Given the description of an element on the screen output the (x, y) to click on. 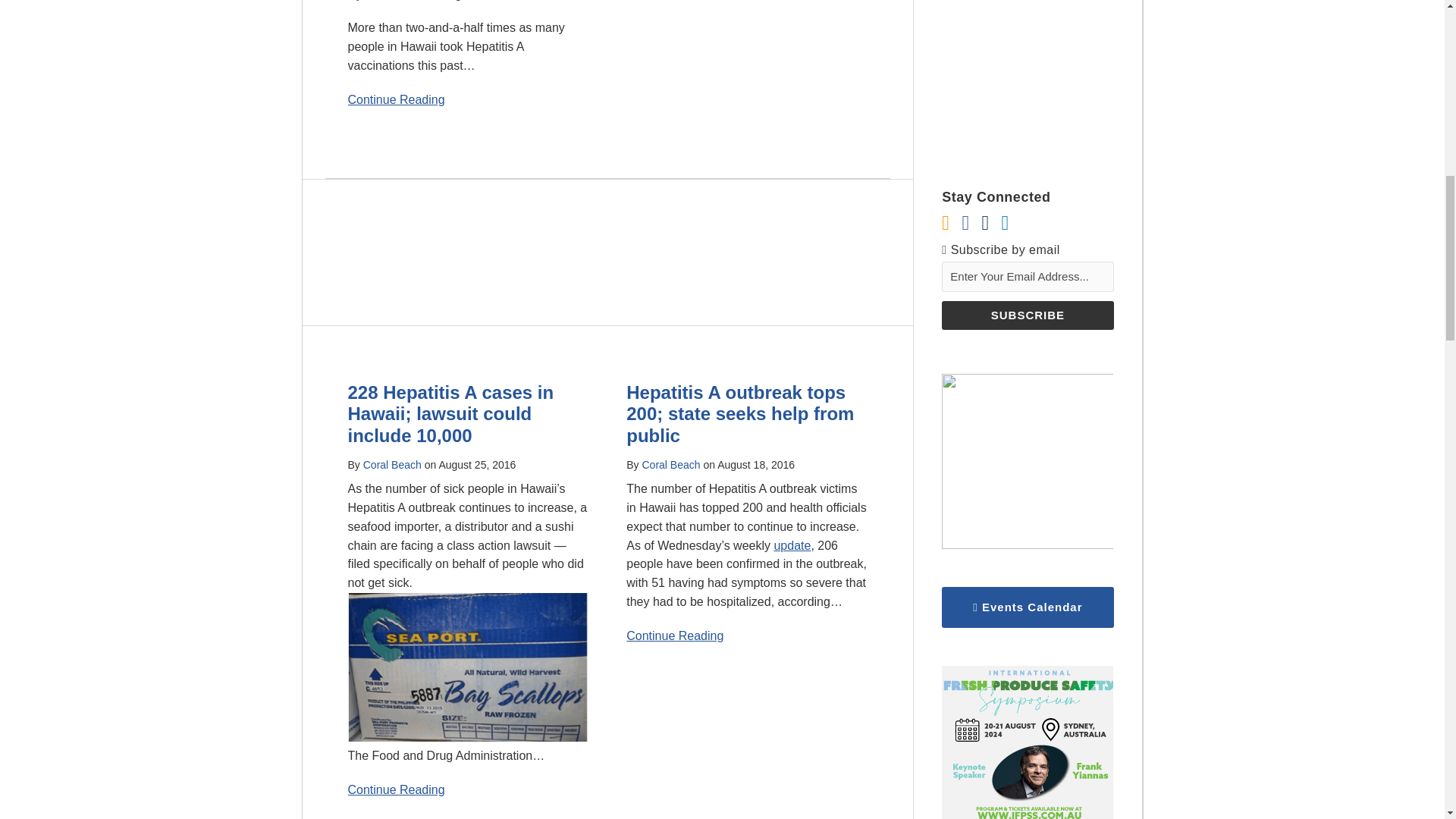
Coral Beach (392, 464)
Coral Beach (671, 464)
Subscribe (1027, 315)
Hepatitis A outbreak tops 200; state seeks help from public (739, 414)
update (791, 544)
